Given the description of an element on the screen output the (x, y) to click on. 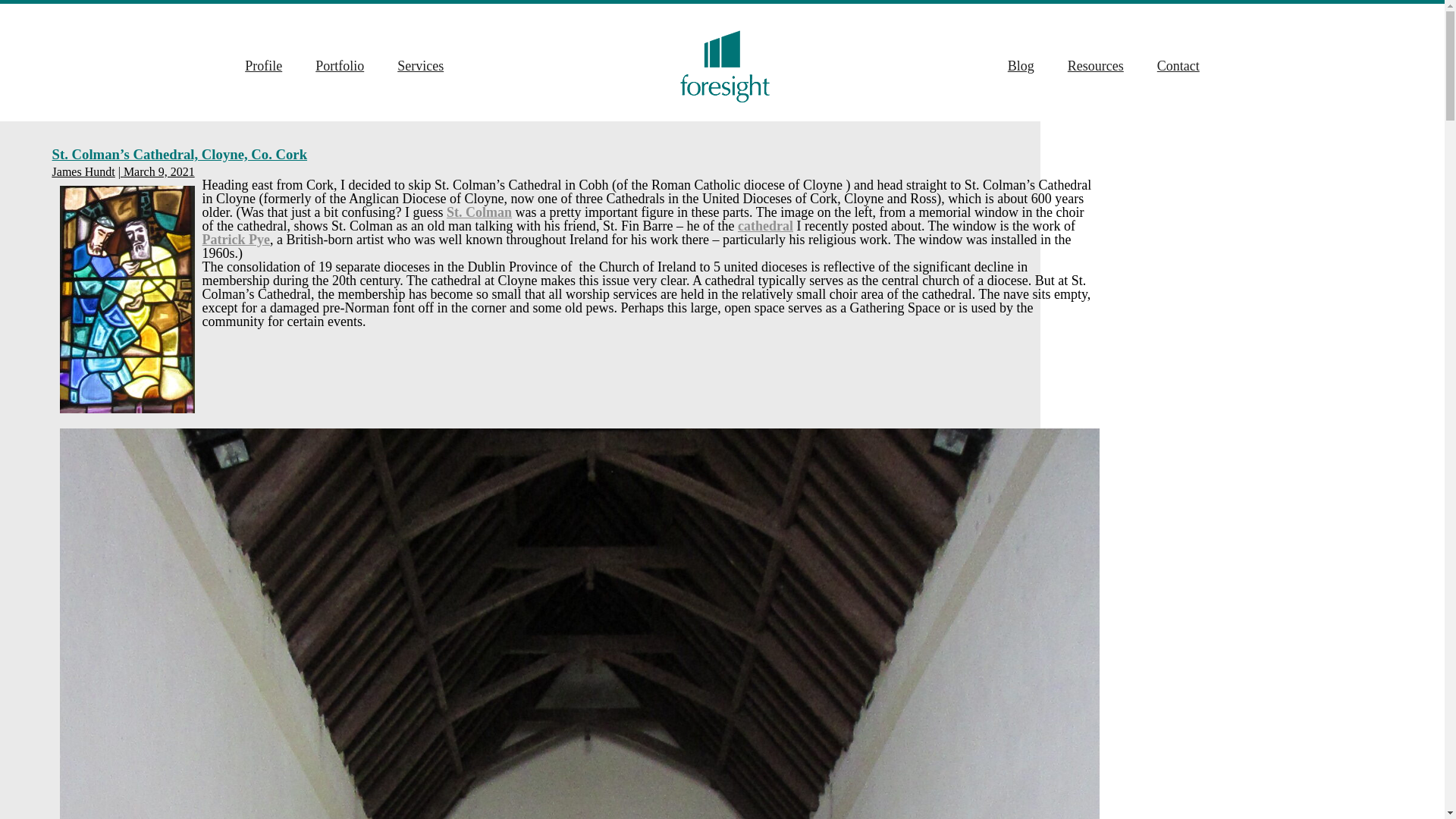
Patrick Pye (235, 239)
Blog (1020, 65)
St. Colman (479, 212)
James Hundt (83, 171)
Posts by James Hundt (83, 171)
Resources (1095, 65)
Profile (263, 65)
cathedral (765, 225)
Contact (1178, 65)
Services (420, 65)
Portfolio (339, 65)
